Given the description of an element on the screen output the (x, y) to click on. 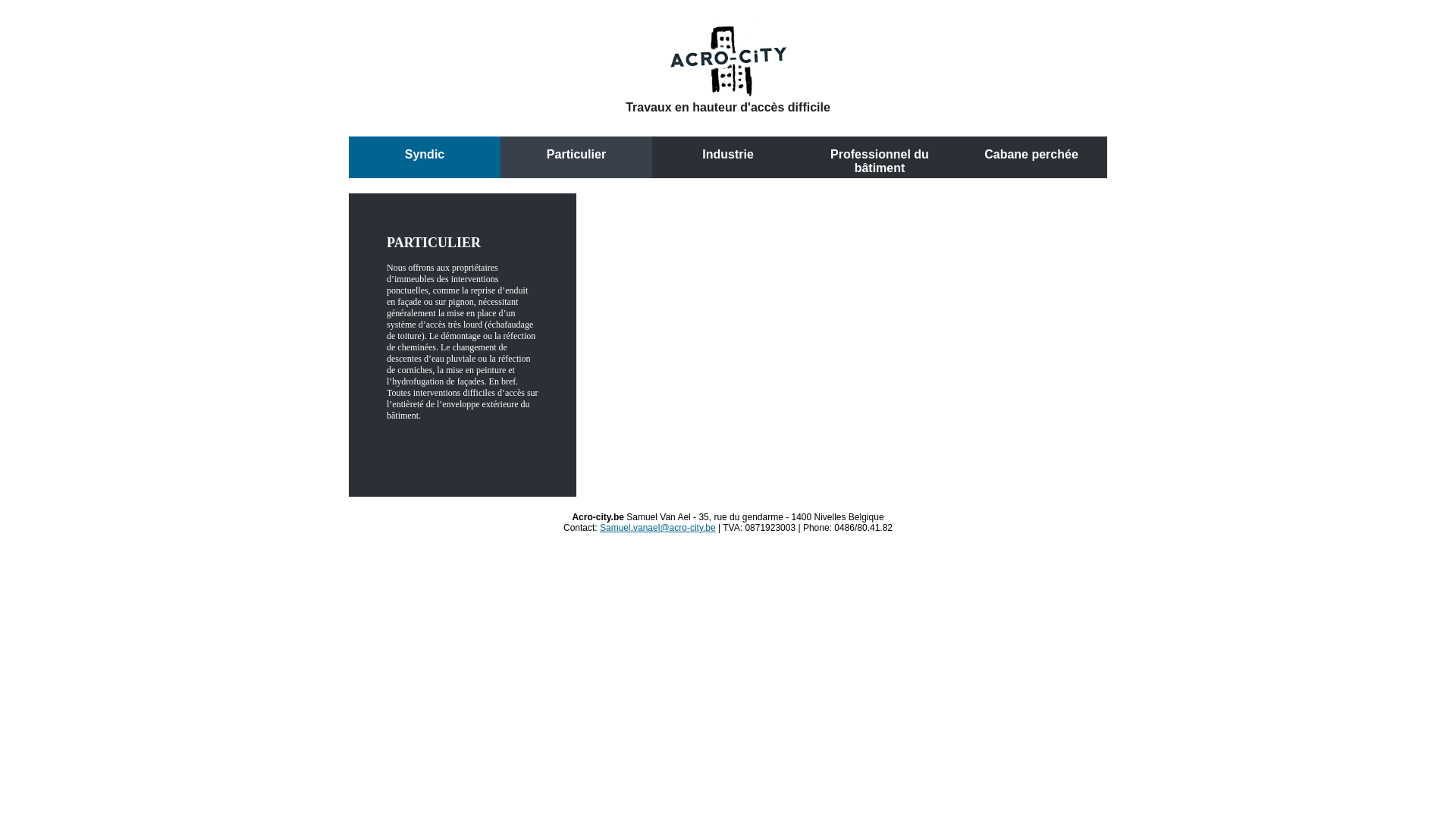
Samuel.vanael@acro-city.be Element type: text (657, 527)
Industrie Element type: text (727, 153)
Particulier Element type: text (575, 153)
Syndic Element type: text (424, 153)
